Given the description of an element on the screen output the (x, y) to click on. 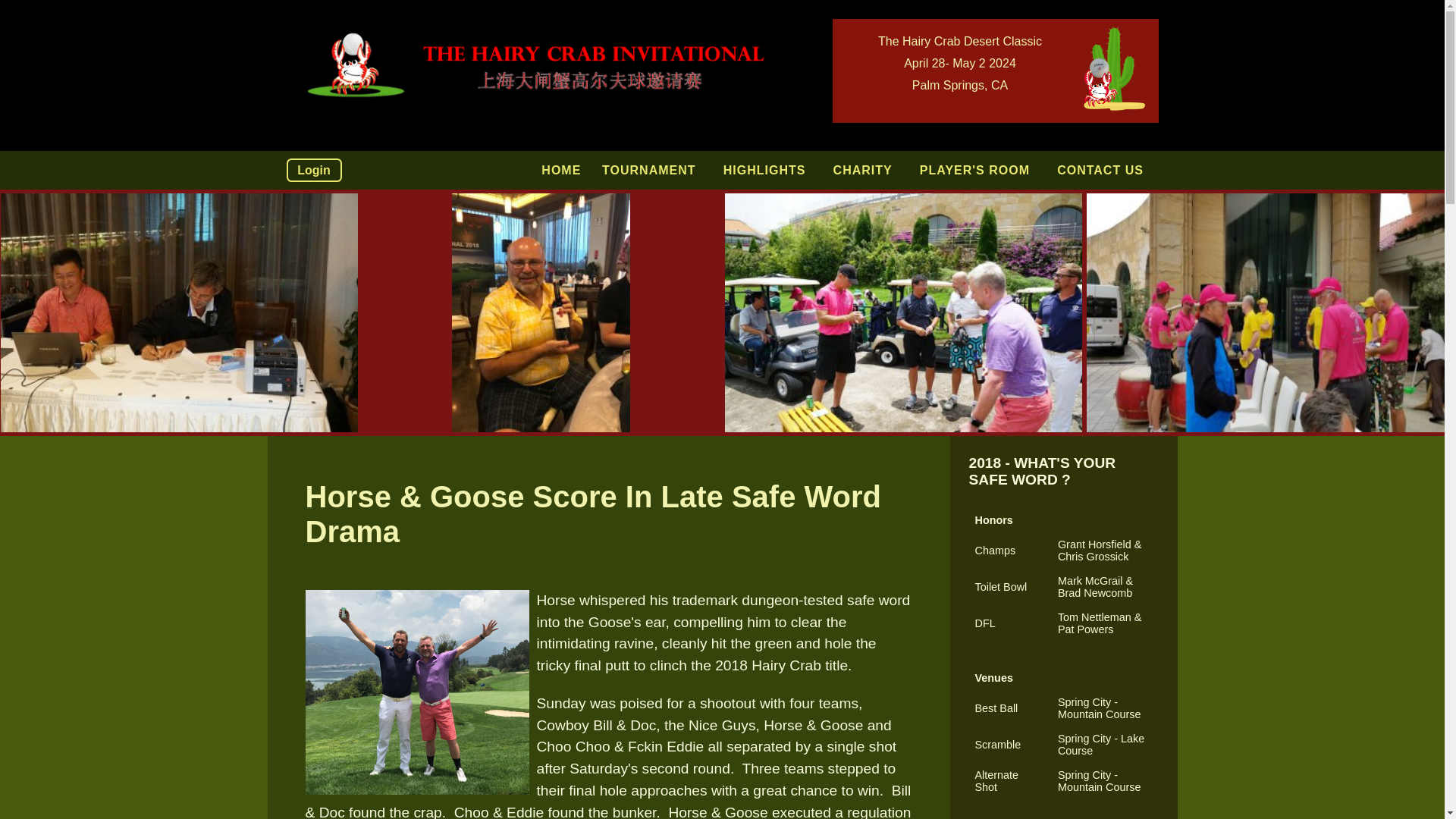
HOME (560, 170)
Login (314, 169)
Login (314, 169)
CHARITY (865, 170)
HIGHLIGHTS (767, 170)
TOURNAMENT (651, 170)
